Given the description of an element on the screen output the (x, y) to click on. 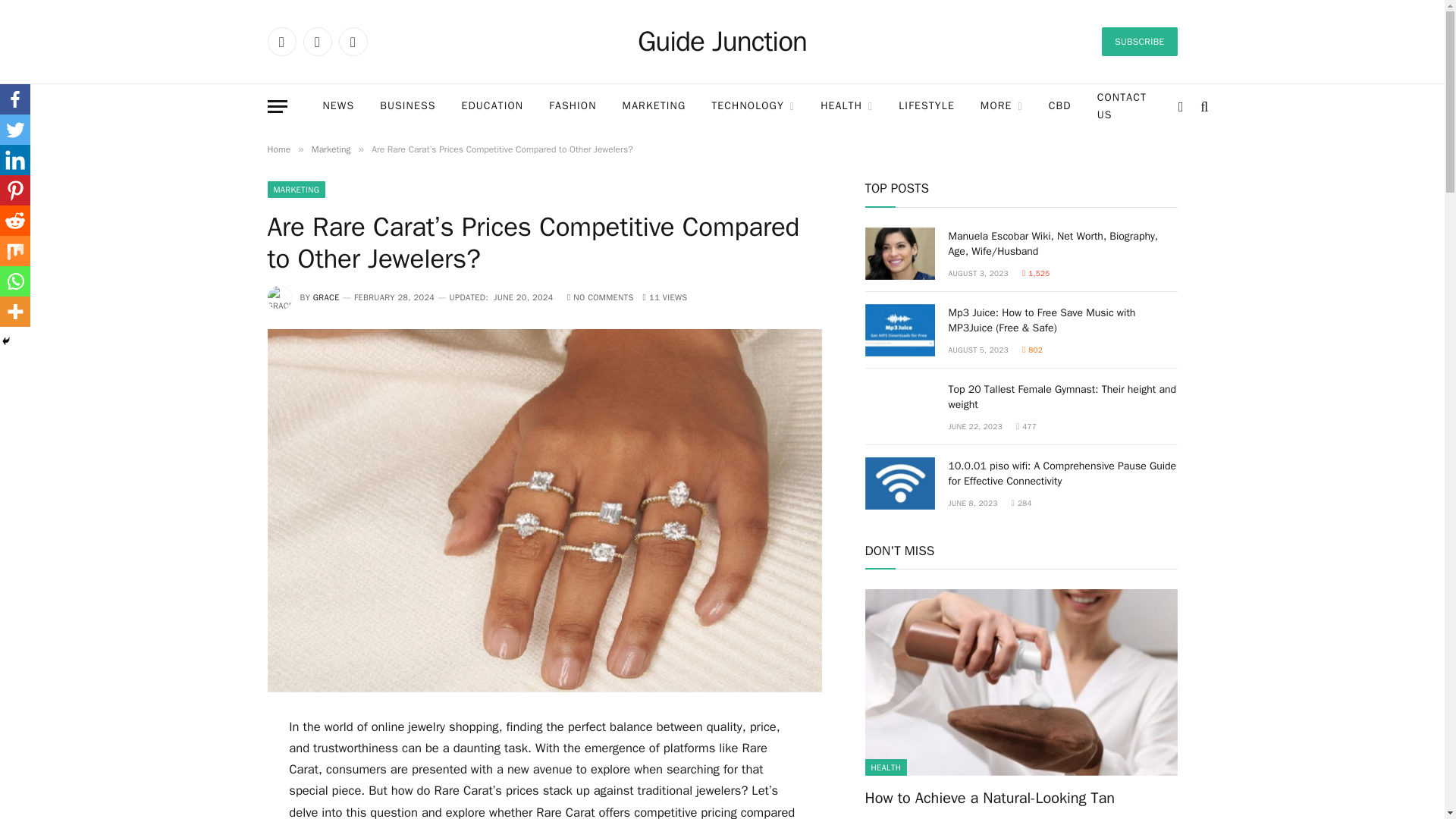
BUSINESS (407, 106)
Facebook (280, 41)
Switch to Dark Design - easier on eyes. (1180, 106)
LIFESTYLE (926, 106)
Home (277, 149)
Posts by Grace (326, 296)
Search (1202, 106)
Guide Junction (721, 41)
11 Article Views (665, 296)
CBD (1059, 106)
EDUCATION (491, 106)
MARKETING (654, 106)
CONTACT US (1121, 106)
Twitter (316, 41)
NEWS (337, 106)
